Given the description of an element on the screen output the (x, y) to click on. 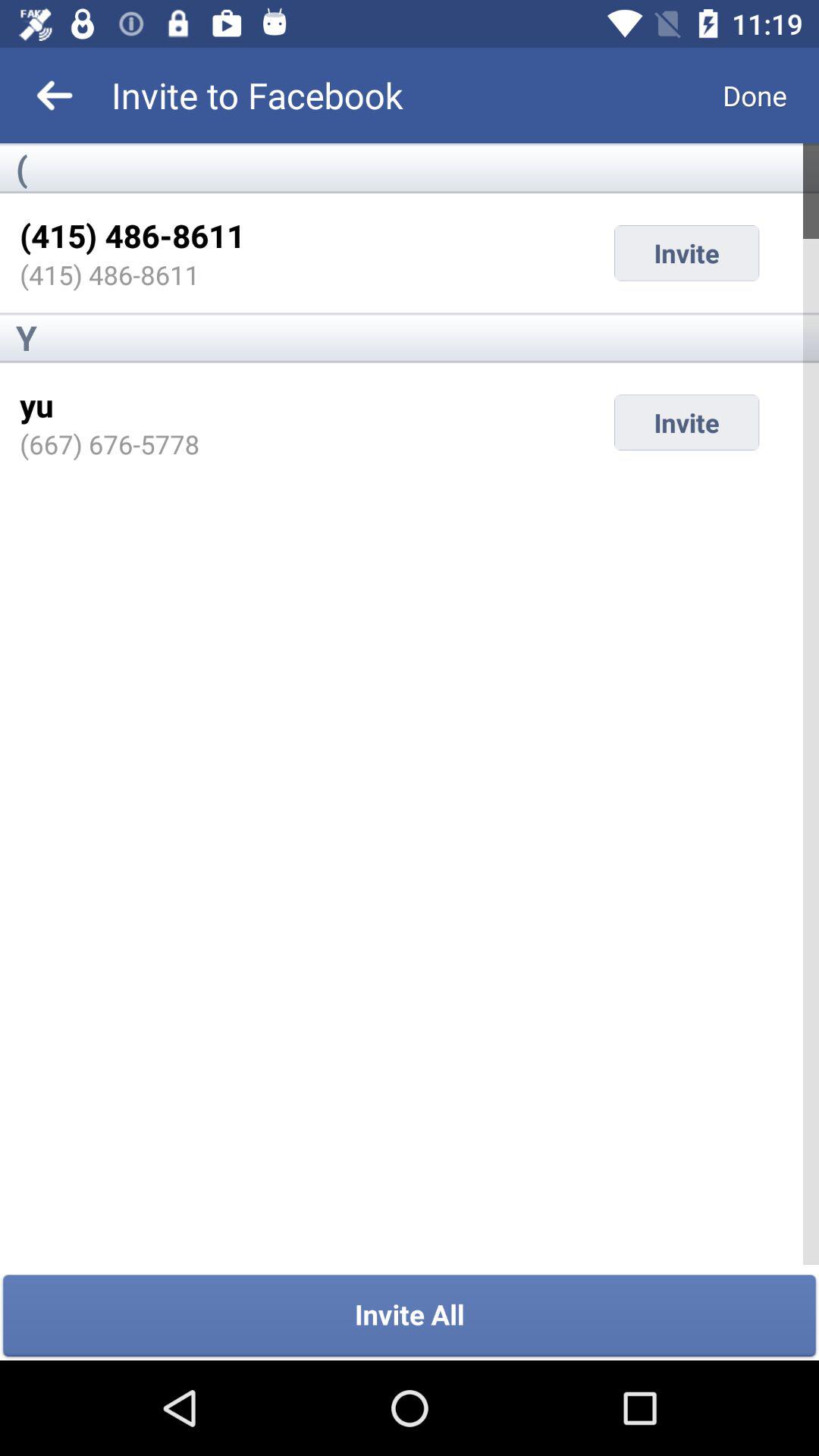
turn off the done item (755, 95)
